Given the description of an element on the screen output the (x, y) to click on. 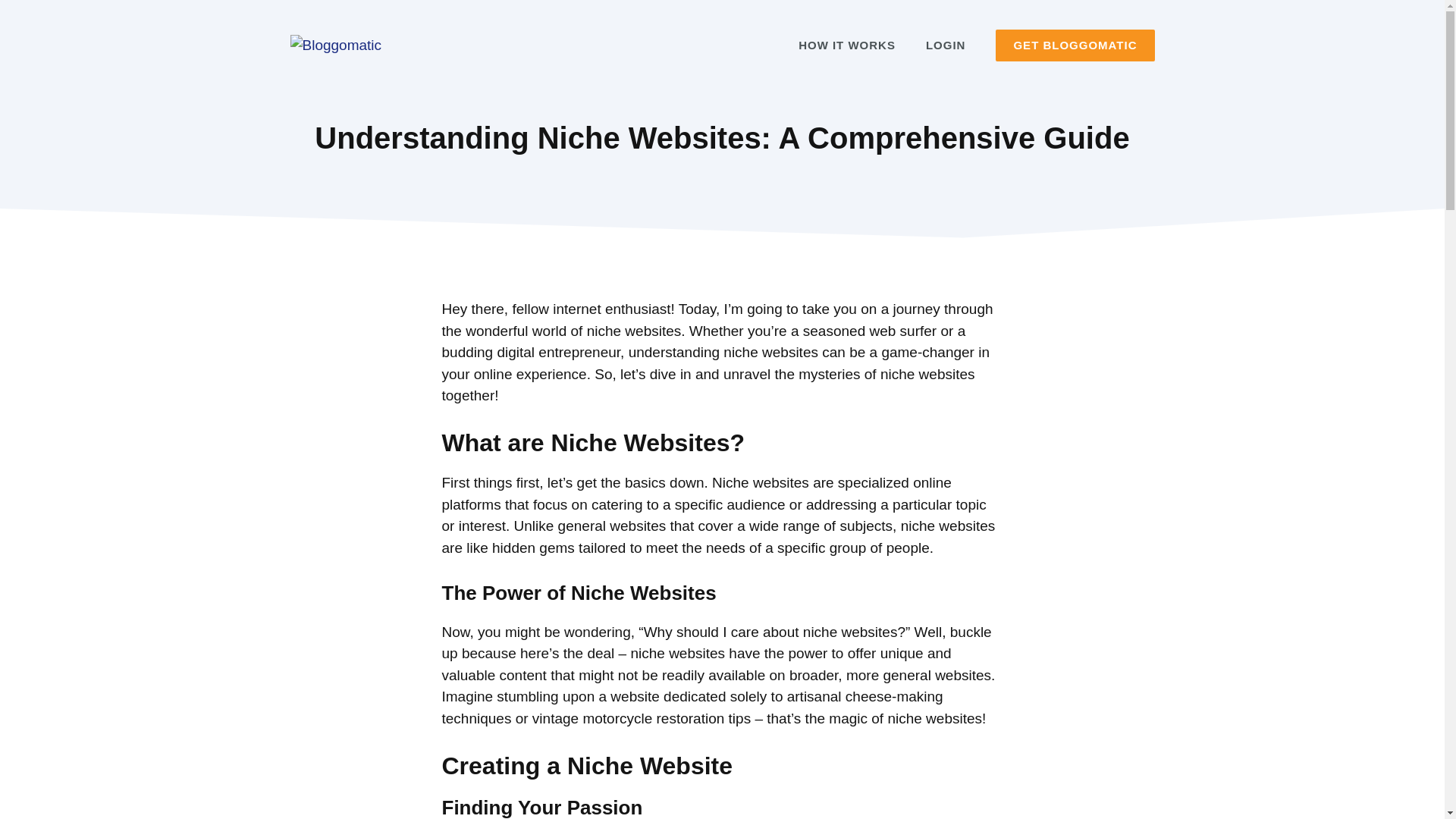
GET BLOGGOMATIC (1074, 45)
LOGIN (946, 44)
HOW IT WORKS (847, 44)
